Given the description of an element on the screen output the (x, y) to click on. 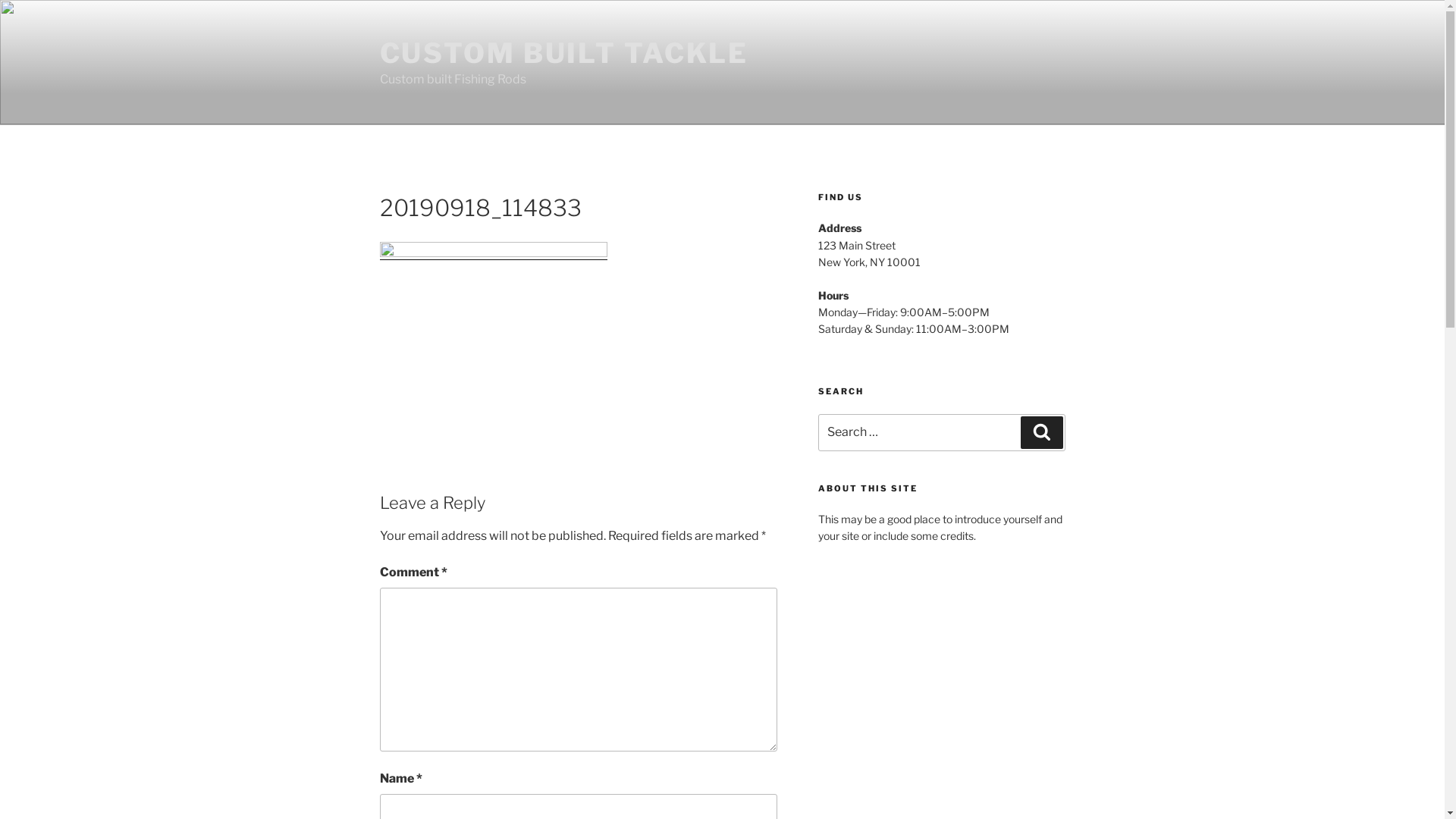
CUSTOM BUILT TACKLE Element type: text (563, 52)
Search Element type: text (1041, 432)
